Given the description of an element on the screen output the (x, y) to click on. 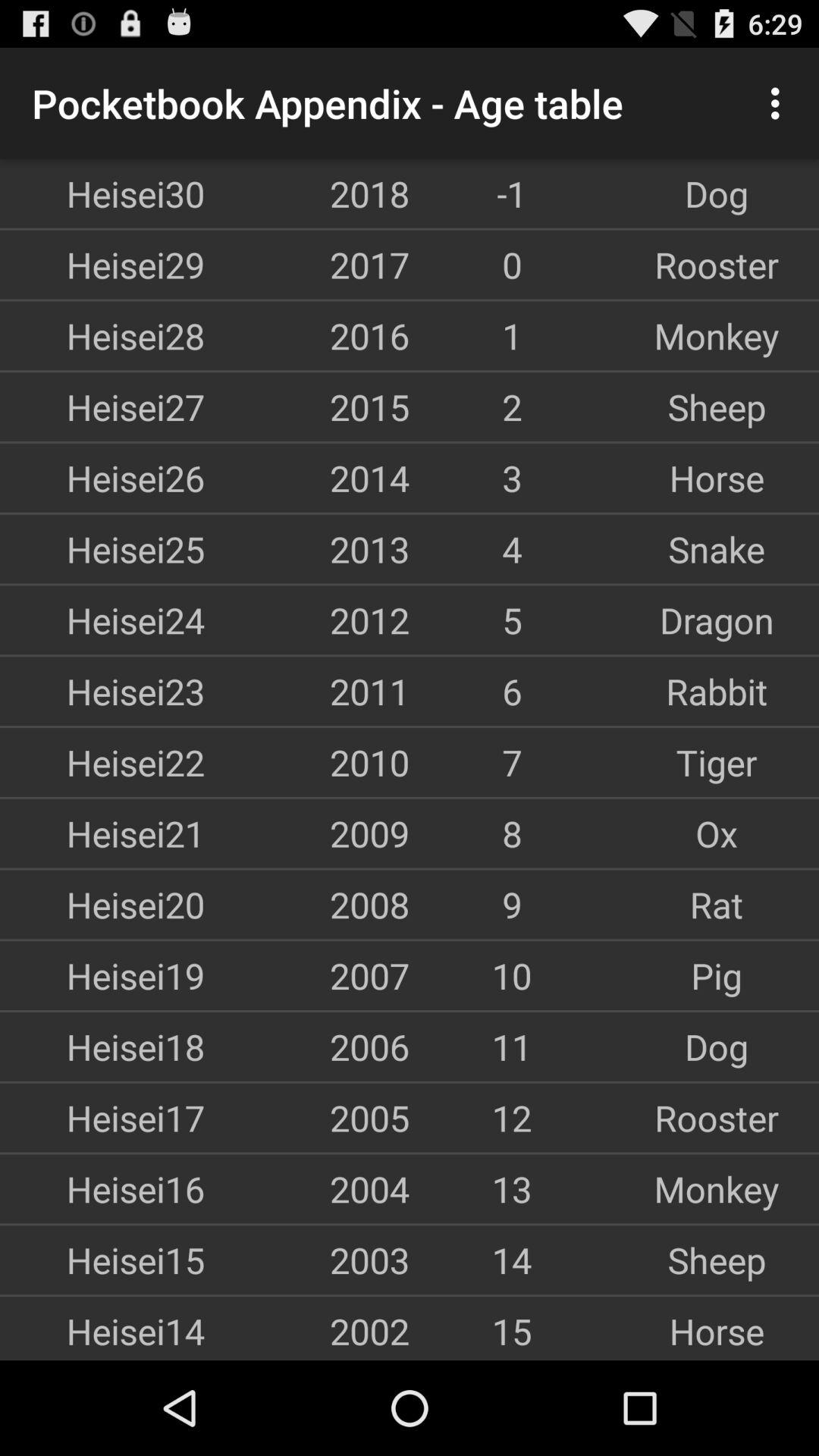
open app below heisei28 item (102, 406)
